Given the description of an element on the screen output the (x, y) to click on. 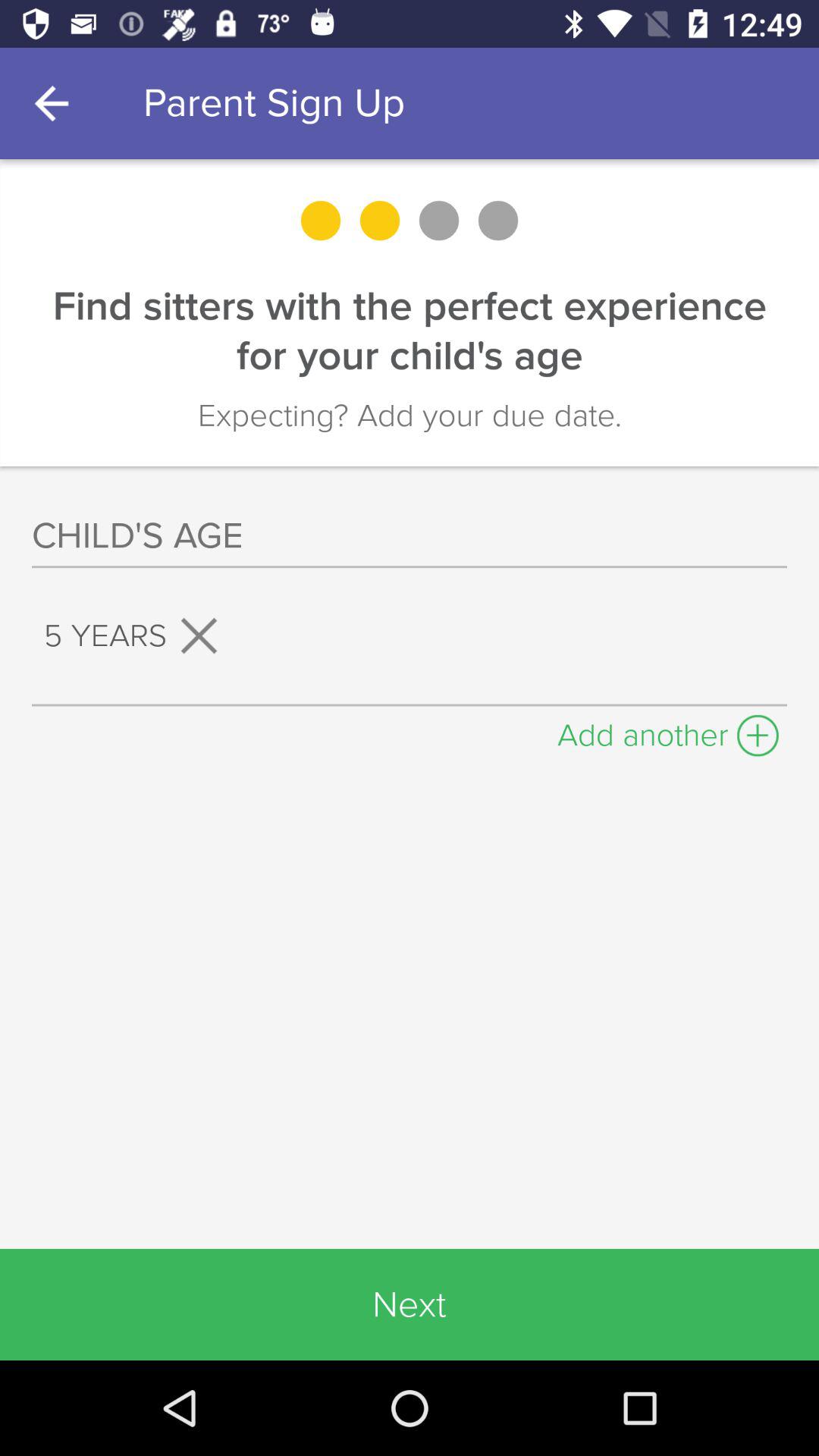
choose the icon below the add another (409, 1304)
